Given the description of an element on the screen output the (x, y) to click on. 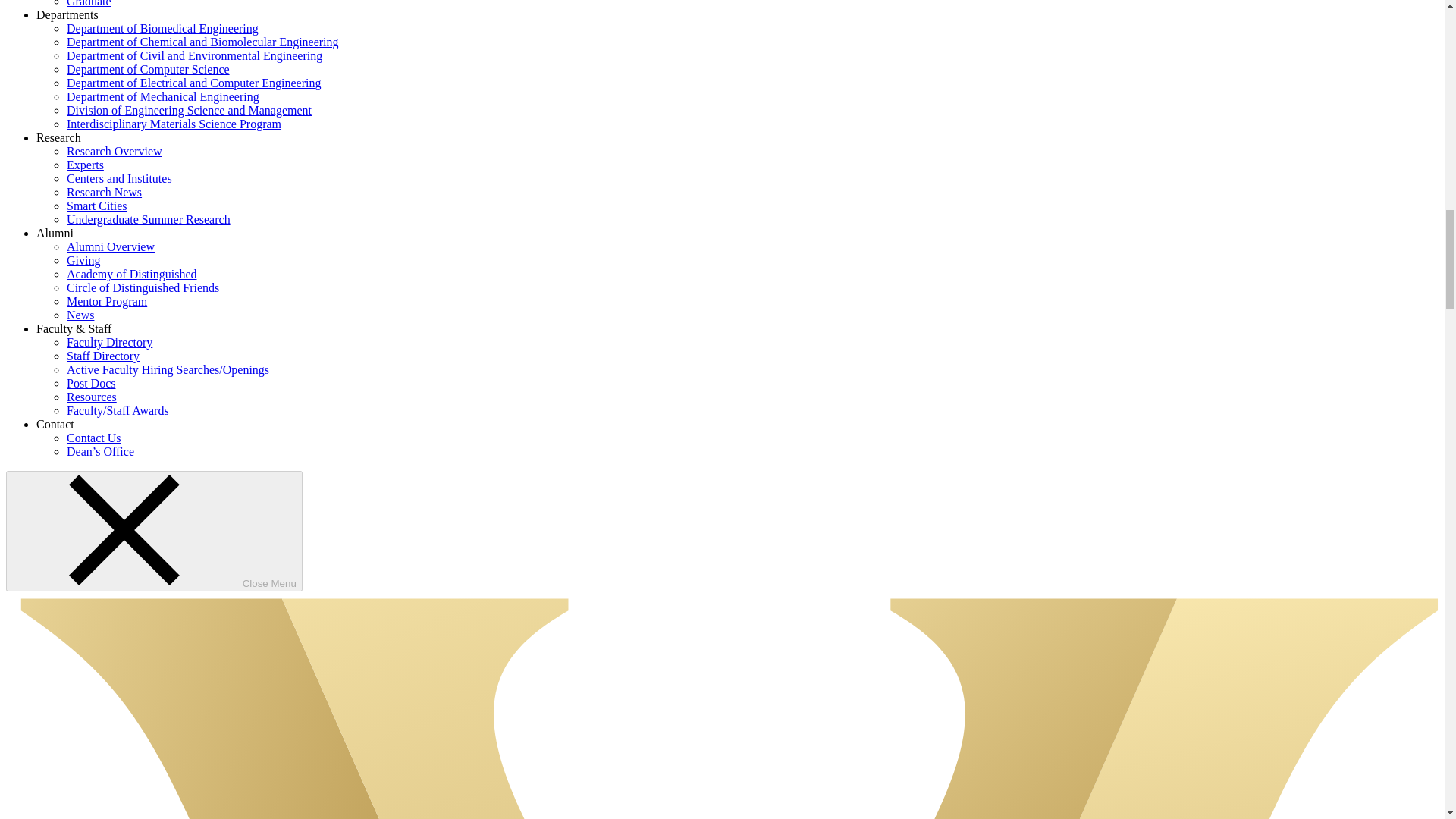
Department of Civil and Environmental Engineering (193, 55)
Division of Engineering Science and Management (188, 110)
Interdisciplinary Materials Science Program (173, 123)
Experts (84, 164)
Centers and Institutes (118, 178)
Department of Chemical and Biomolecular Engineering (202, 42)
Giving (83, 259)
Circle of Distinguished Friends (142, 287)
Graduate (89, 3)
Departments (67, 14)
